Given the description of an element on the screen output the (x, y) to click on. 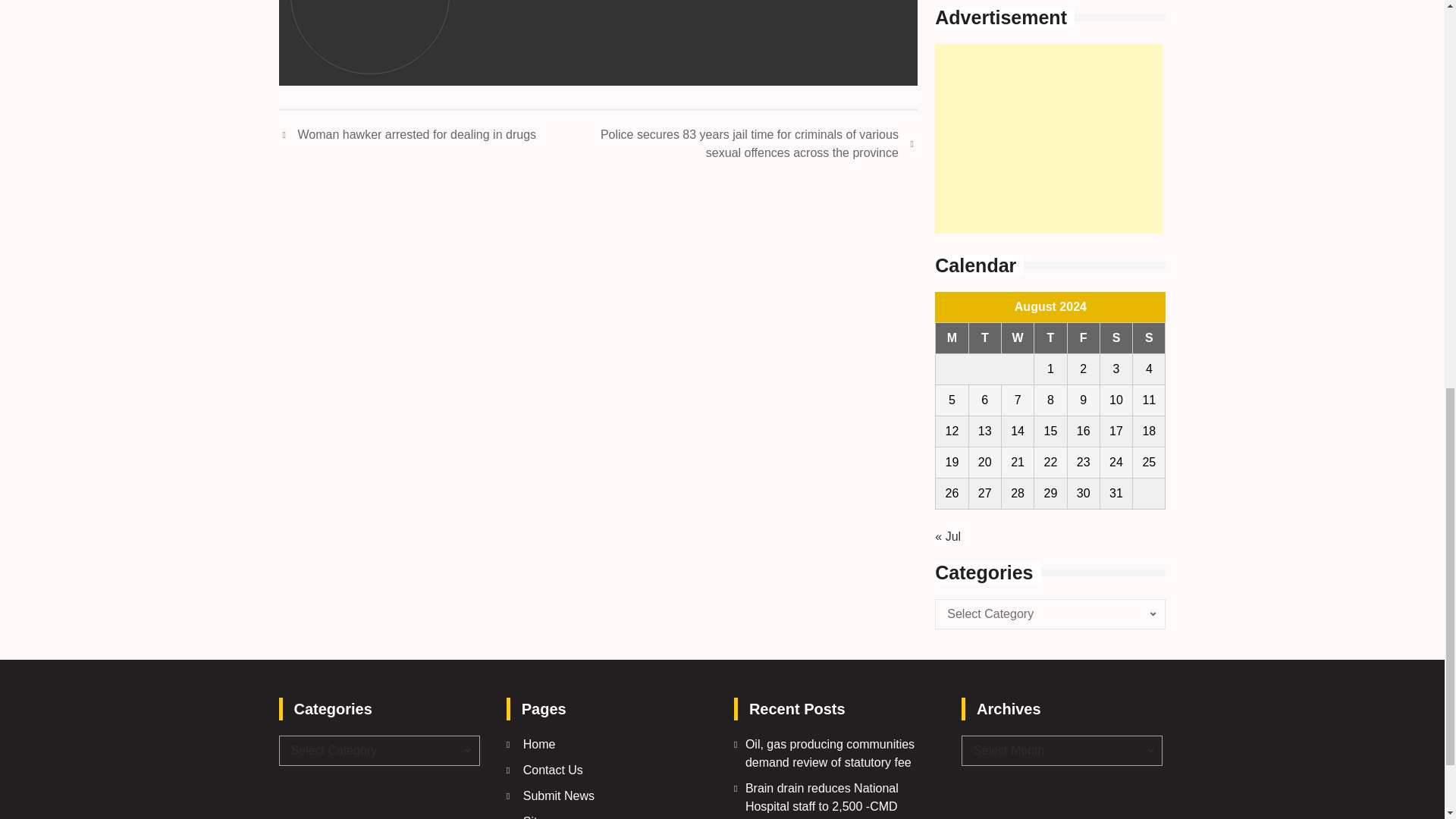
Sunday (1149, 337)
Thursday (1050, 337)
Advertisement (1047, 138)
Friday (1083, 337)
Tuesday (984, 337)
Monday (952, 337)
Saturday (1115, 337)
Wednesday (1017, 337)
